Given the description of an element on the screen output the (x, y) to click on. 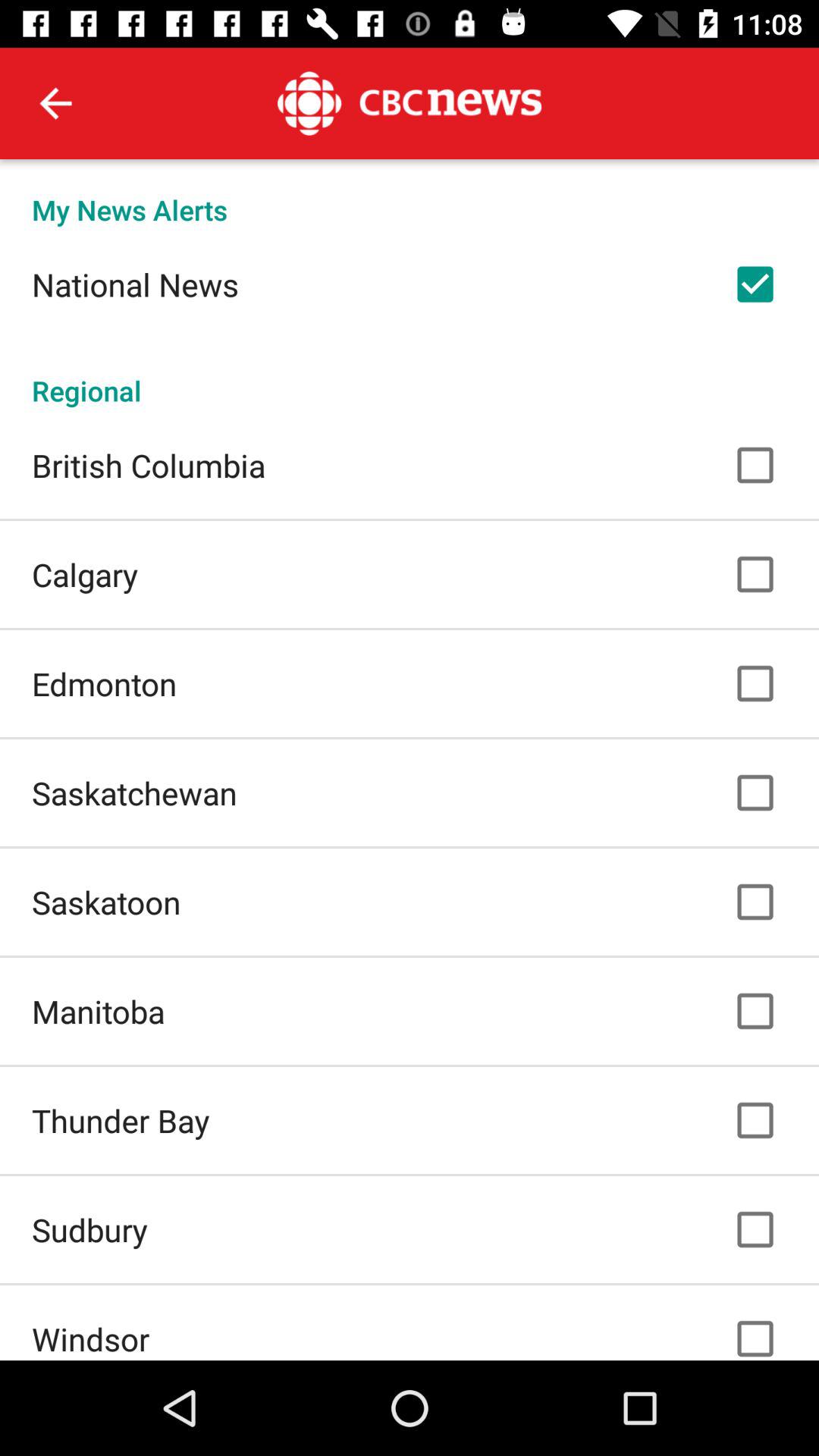
turn off item below edmonton (134, 792)
